Given the description of an element on the screen output the (x, y) to click on. 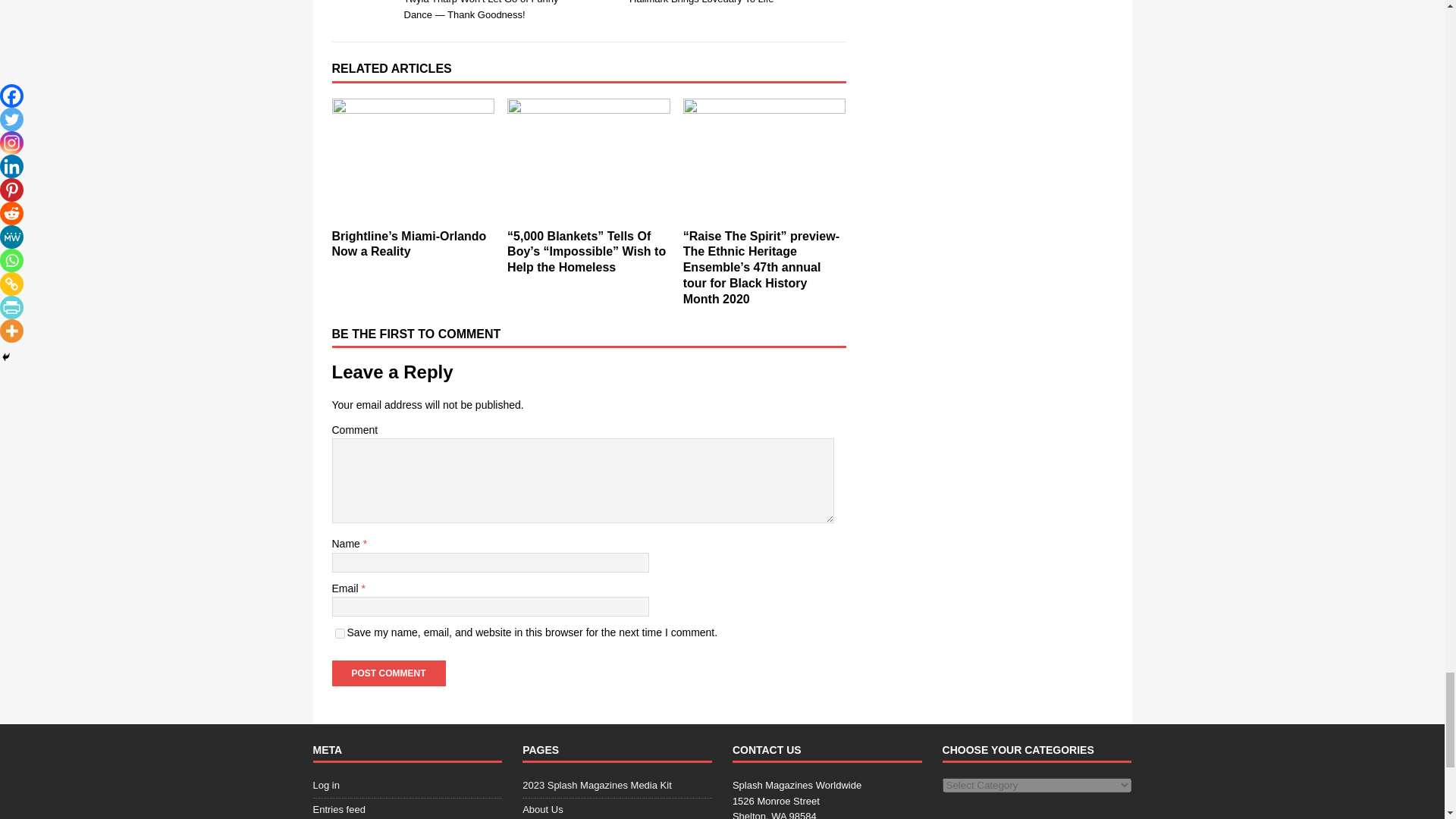
yes (339, 633)
Post Comment (388, 673)
